Given the description of an element on the screen output the (x, y) to click on. 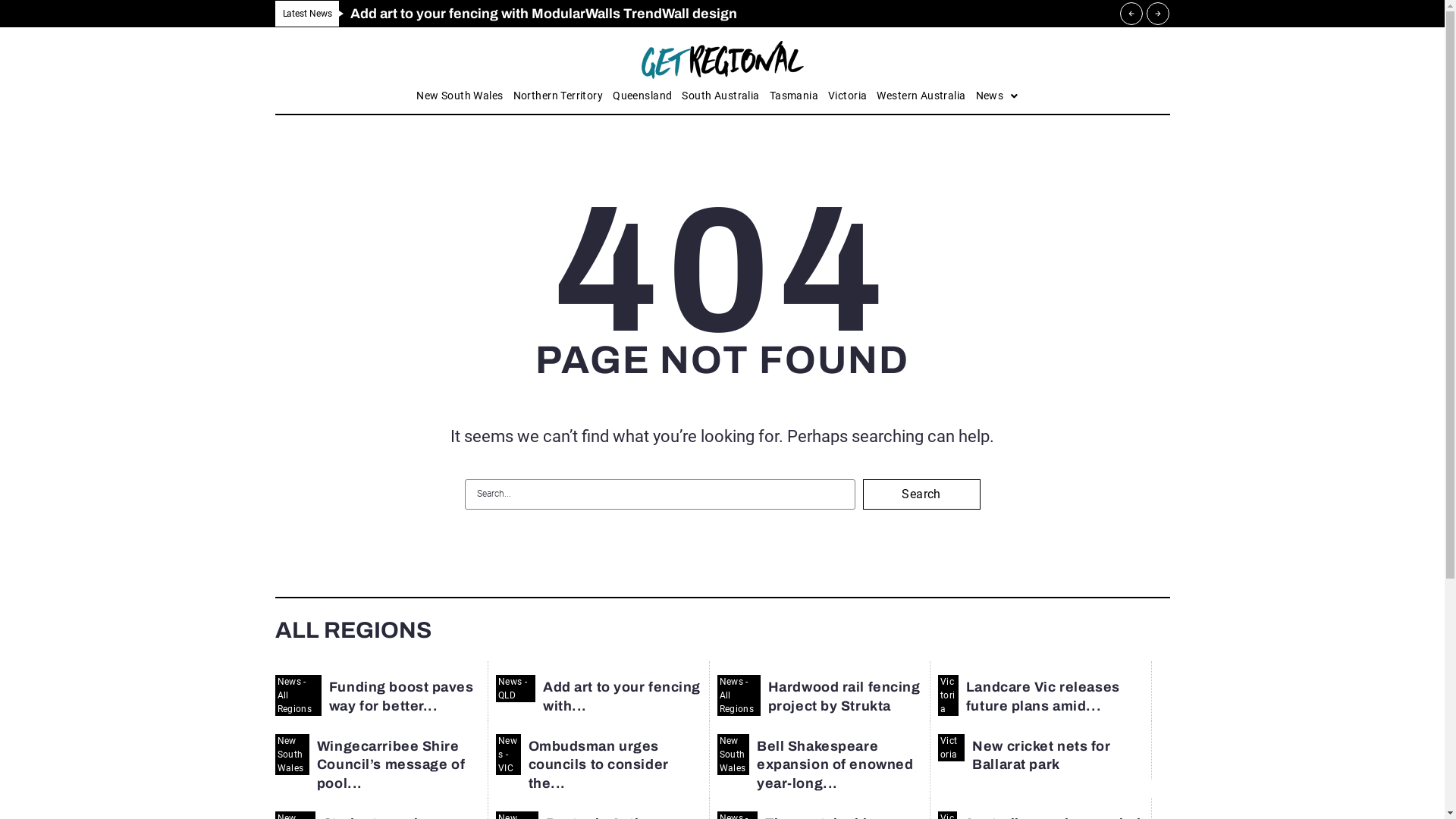
News - QLD Element type: text (515, 688)
New South Wales Element type: text (291, 754)
Tasmania Element type: text (793, 95)
News - All Regions Element type: text (297, 694)
Western Australia Element type: text (920, 95)
New South Wales Element type: text (459, 95)
Victoria Element type: text (951, 747)
Funding boost paves way for better... Element type: text (401, 695)
Add art to your fencing with... Element type: text (621, 695)
News - All Regions Element type: text (738, 694)
New South Wales Element type: text (733, 754)
News - VIC Element type: text (507, 754)
Ombudsman urges councils to consider the... Element type: text (598, 764)
New cricket nets for Ballarat park Element type: text (1041, 754)
Bell Shakespeare expansion of enowned year-long... Element type: text (834, 764)
Victoria Element type: text (847, 95)
Search Element type: text (921, 494)
South Australia Element type: text (720, 95)
Add art to your fencing with ModularWalls TrendWall design Element type: text (543, 13)
Victoria Element type: text (948, 694)
Queensland Element type: text (641, 95)
Hardwood rail fencing project by Strukta Element type: text (844, 695)
Northern Territory Element type: text (558, 95)
News Element type: text (996, 95)
Search for: Element type: hover (659, 494)
Landcare Vic releases future plans amid... Element type: text (1043, 695)
